Given the description of an element on the screen output the (x, y) to click on. 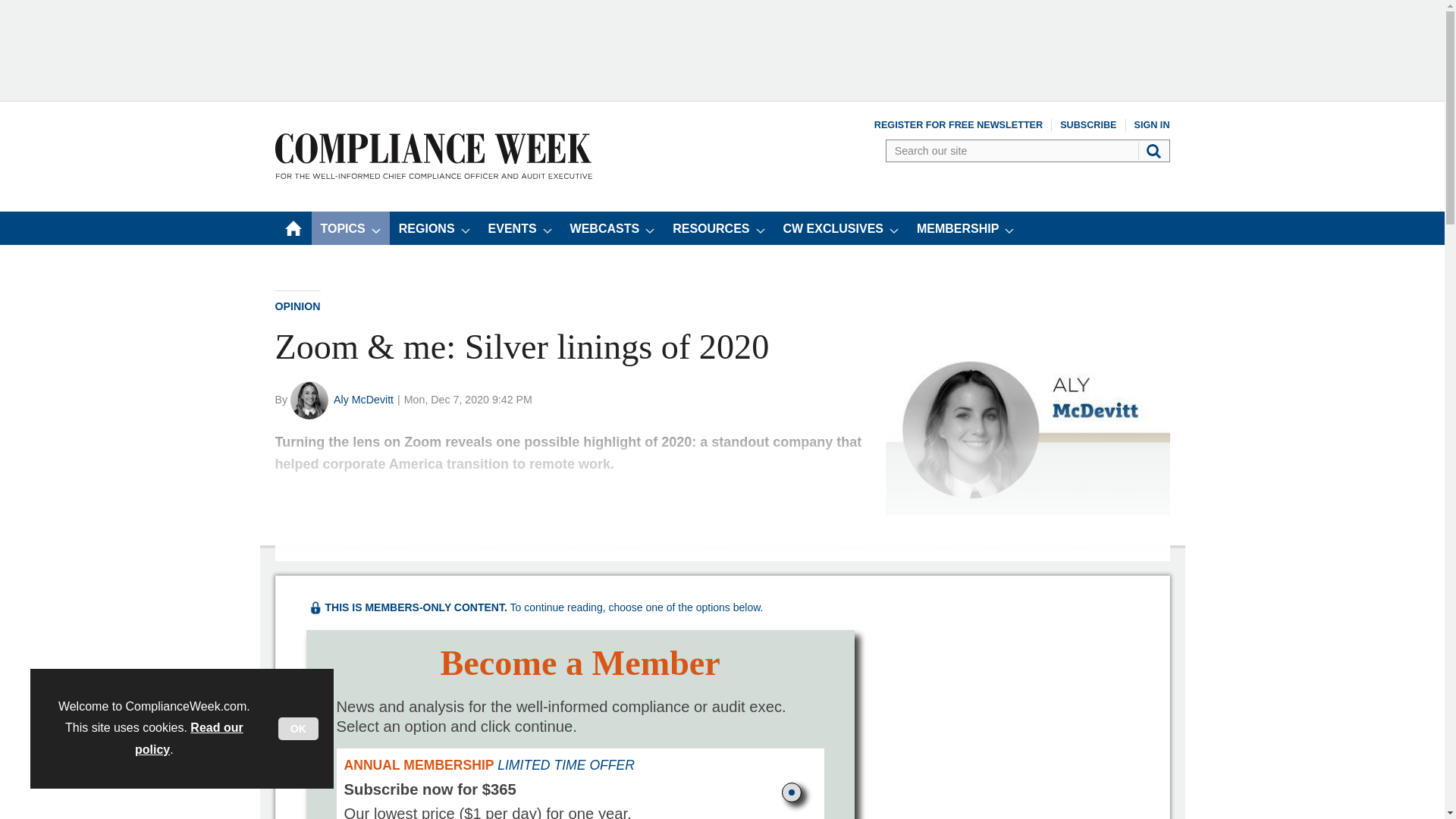
SEARCH (1155, 150)
REGISTER FOR FREE NEWSLETTER (958, 124)
Read our policy (189, 738)
3rd party ad content (721, 48)
SUBSCRIBE (1087, 124)
Compliance Week (433, 174)
OK (298, 728)
SIGN IN (1152, 124)
